Given the description of an element on the screen output the (x, y) to click on. 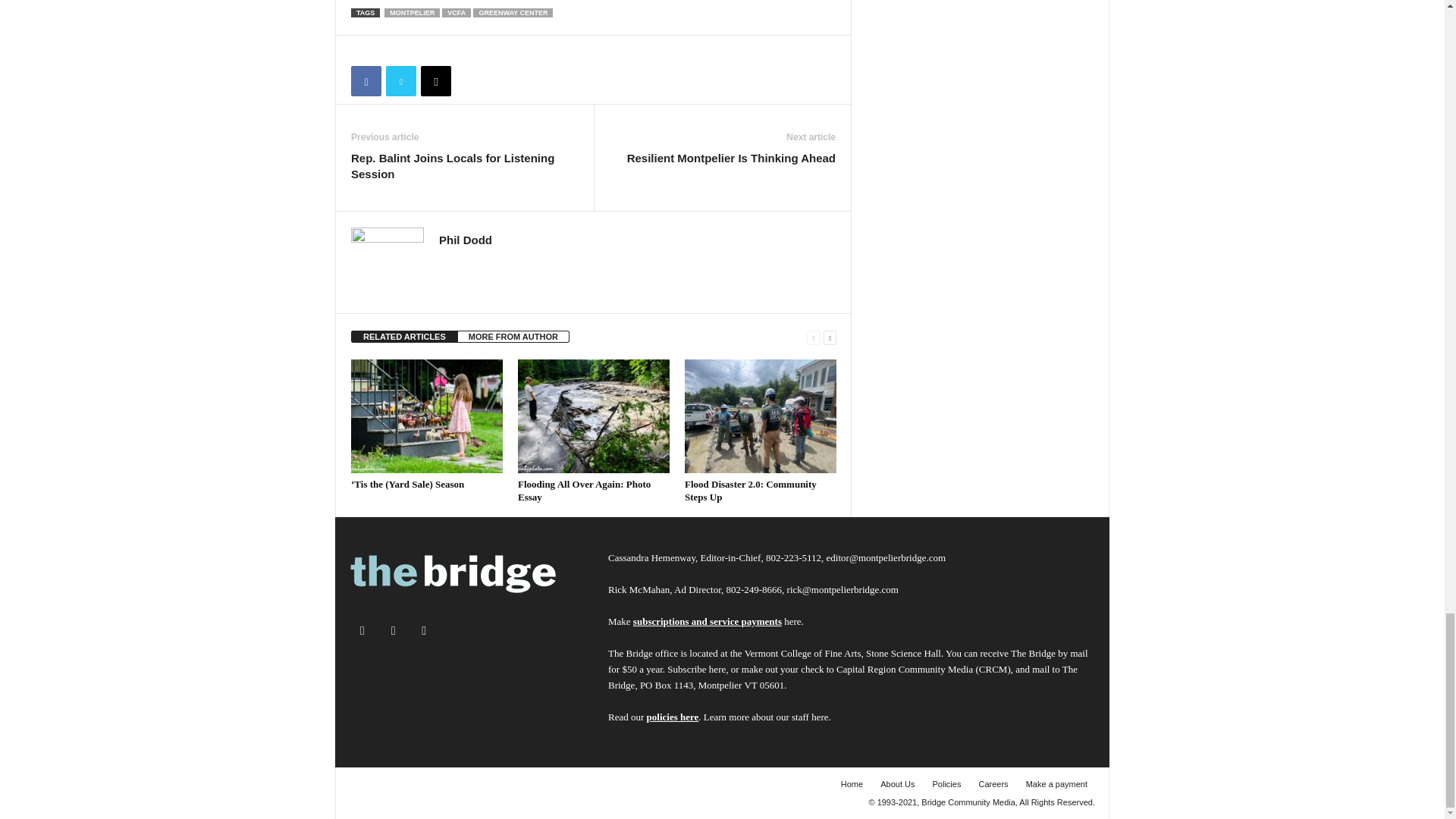
Flooding All Over Again: Photo Essay (593, 416)
